Given the description of an element on the screen output the (x, y) to click on. 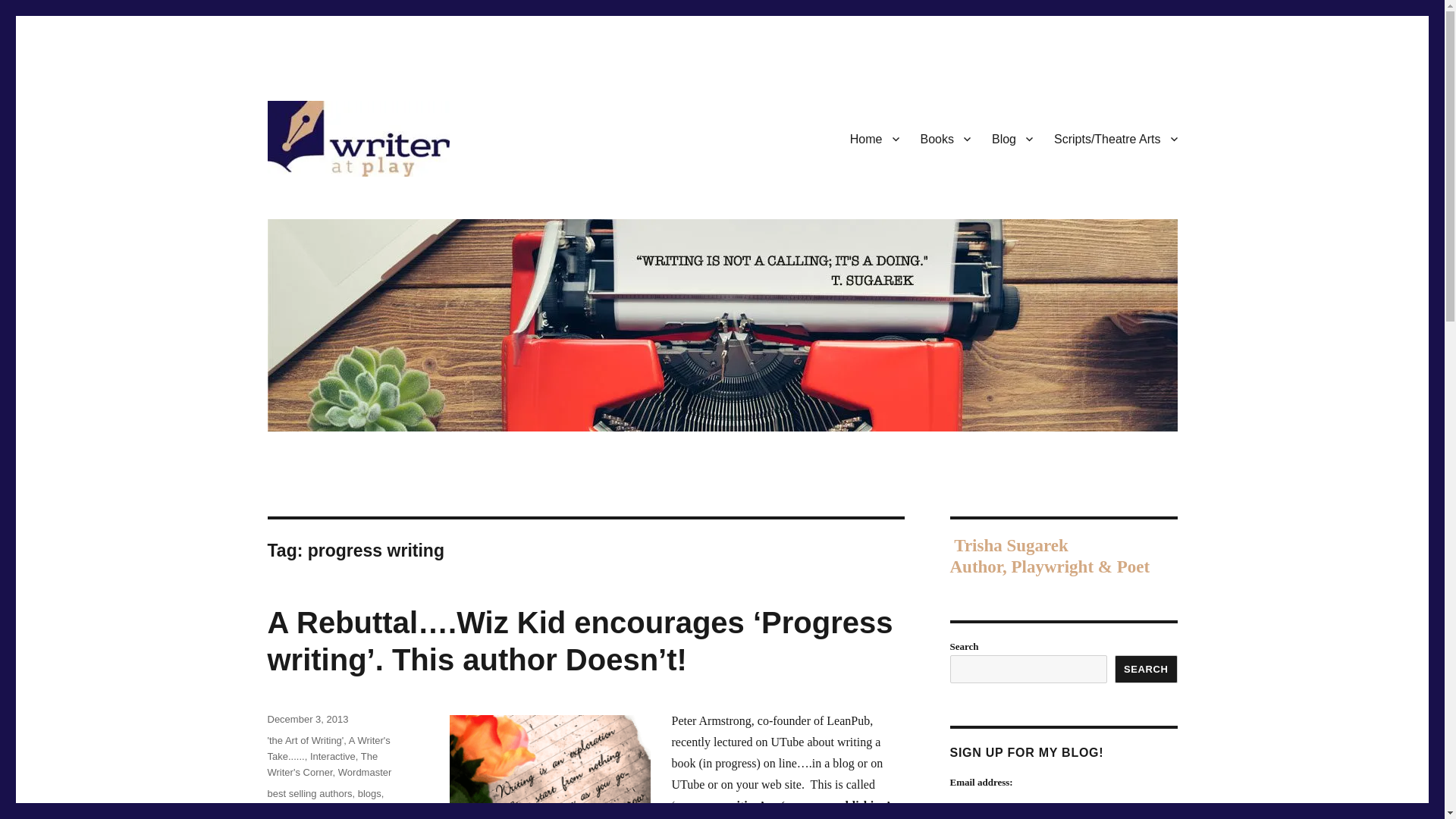
Home (875, 122)
Subscribe (989, 815)
Blog (1012, 122)
Books (945, 122)
